Given the description of an element on the screen output the (x, y) to click on. 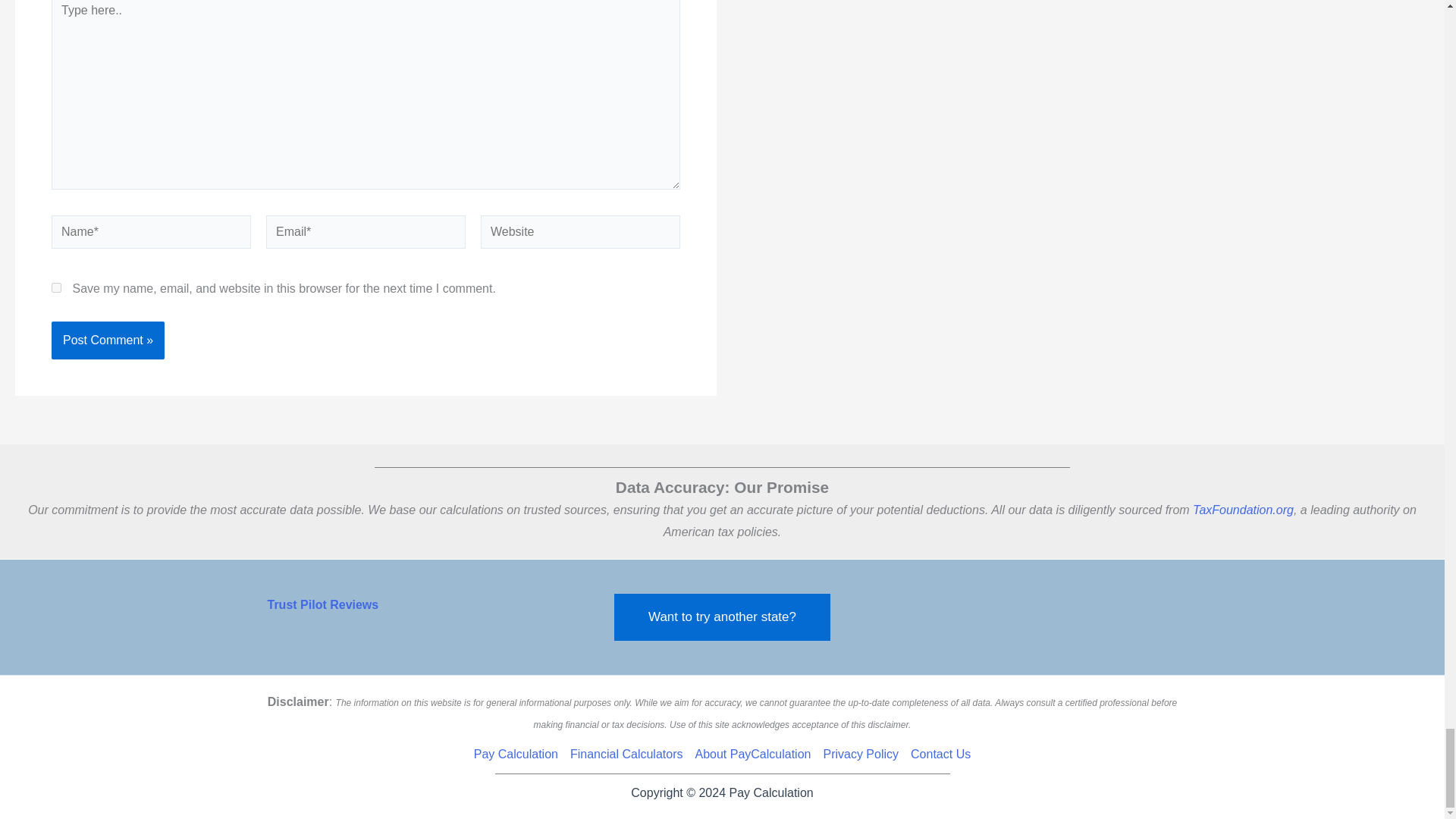
About PayCalculation (752, 753)
Financial Calculators (626, 753)
Pay Calculation (519, 753)
Want to try another state? (721, 616)
yes (55, 287)
TaxFoundation.org (1243, 509)
Trust Pilot Reviews (322, 604)
